Given the description of an element on the screen output the (x, y) to click on. 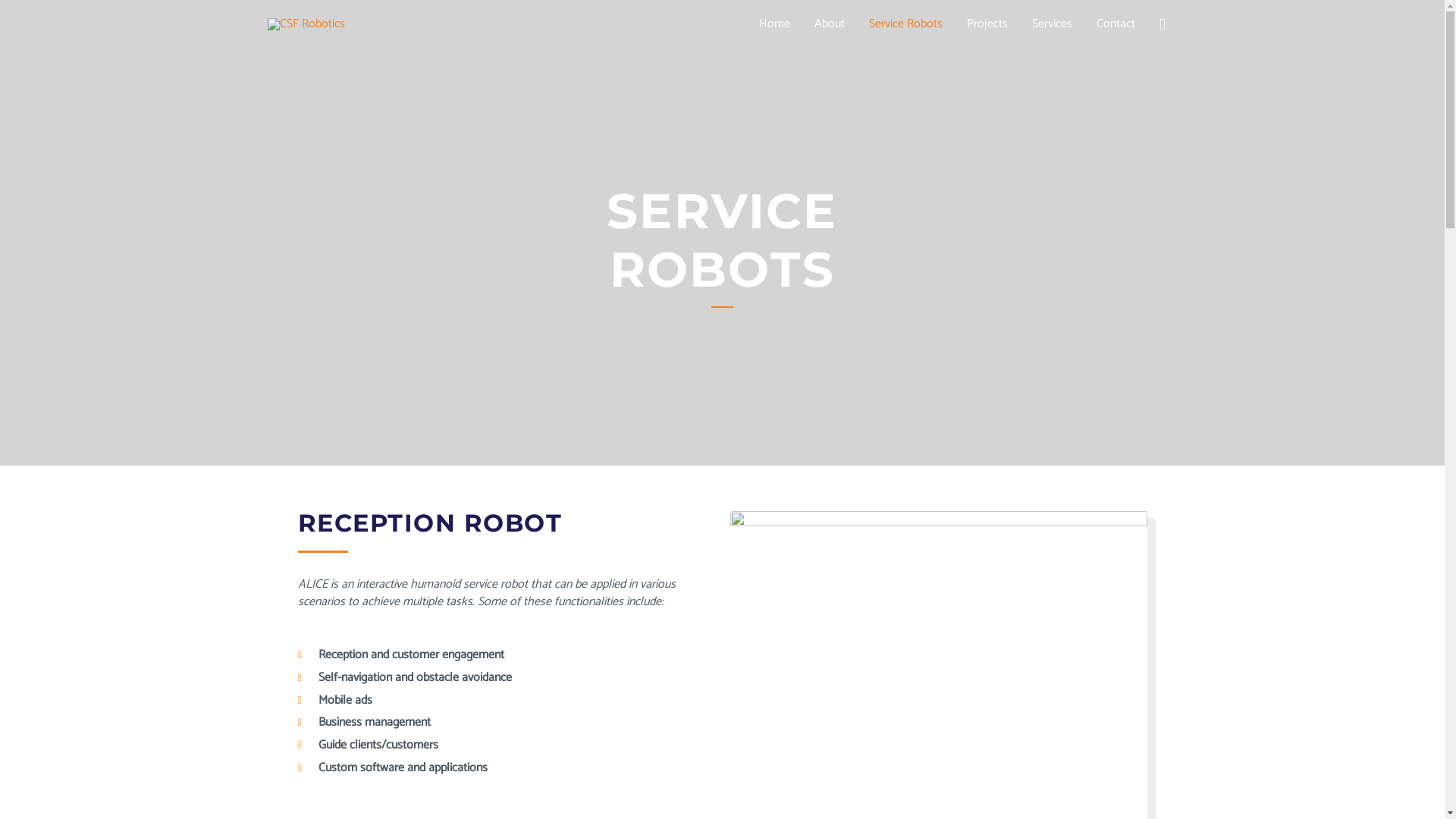
About Element type: text (829, 24)
Service Robots Element type: text (905, 24)
Contact Element type: text (1115, 24)
Home Element type: text (774, 24)
Services Element type: text (1051, 24)
Search Element type: text (31, 15)
Projects Element type: text (986, 24)
